Given the description of an element on the screen output the (x, y) to click on. 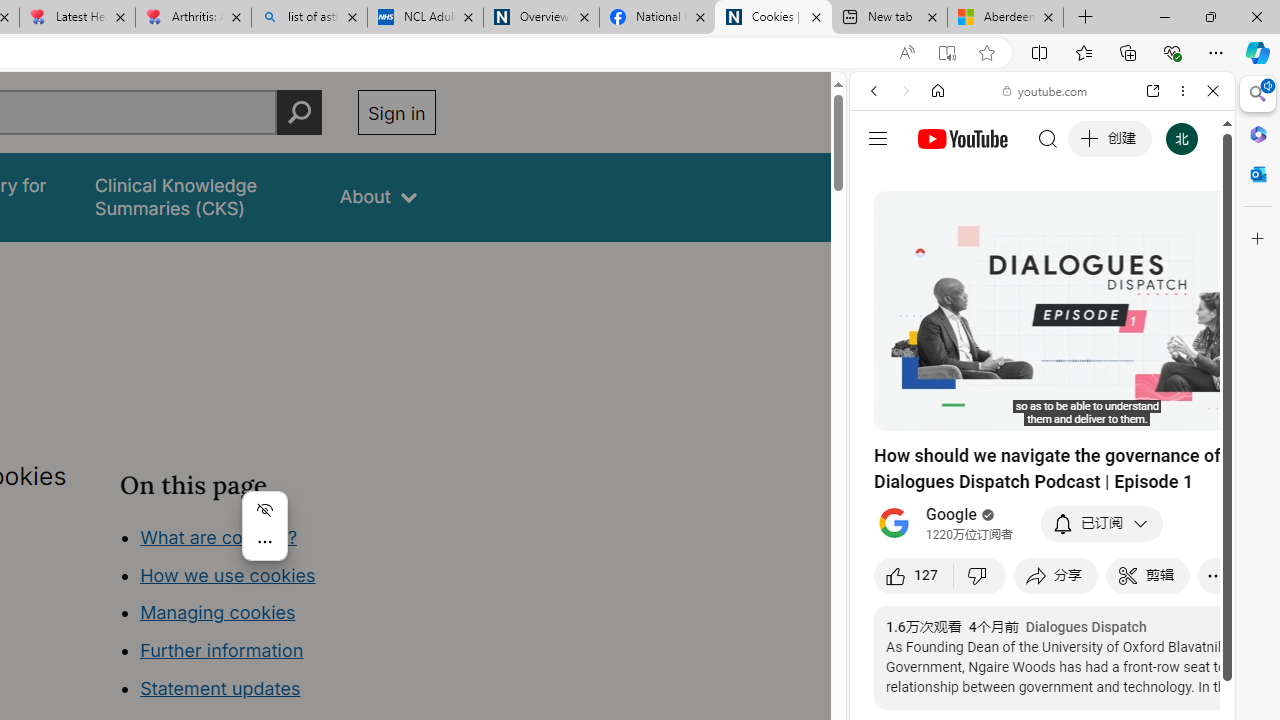
Managing cookies (217, 612)
